Given the description of an element on the screen output the (x, y) to click on. 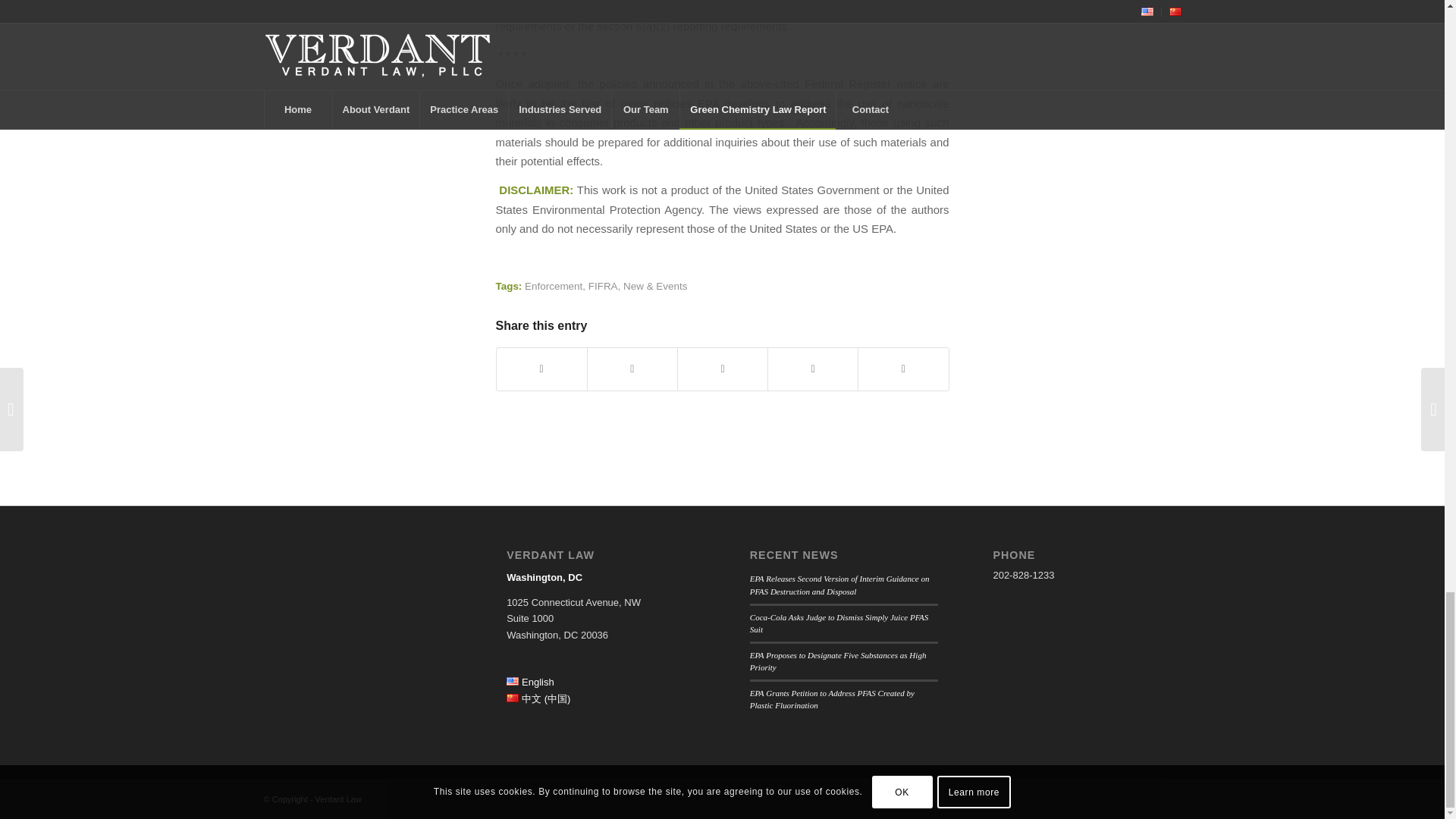
EPA Proposes to Designate Five Substances as High Priority (837, 661)
Coca-Cola Asks Judge to Dismiss Simply Juice PFAS Suit (838, 623)
Enforcement (553, 285)
English (530, 681)
FIFRA (602, 285)
